Given the description of an element on the screen output the (x, y) to click on. 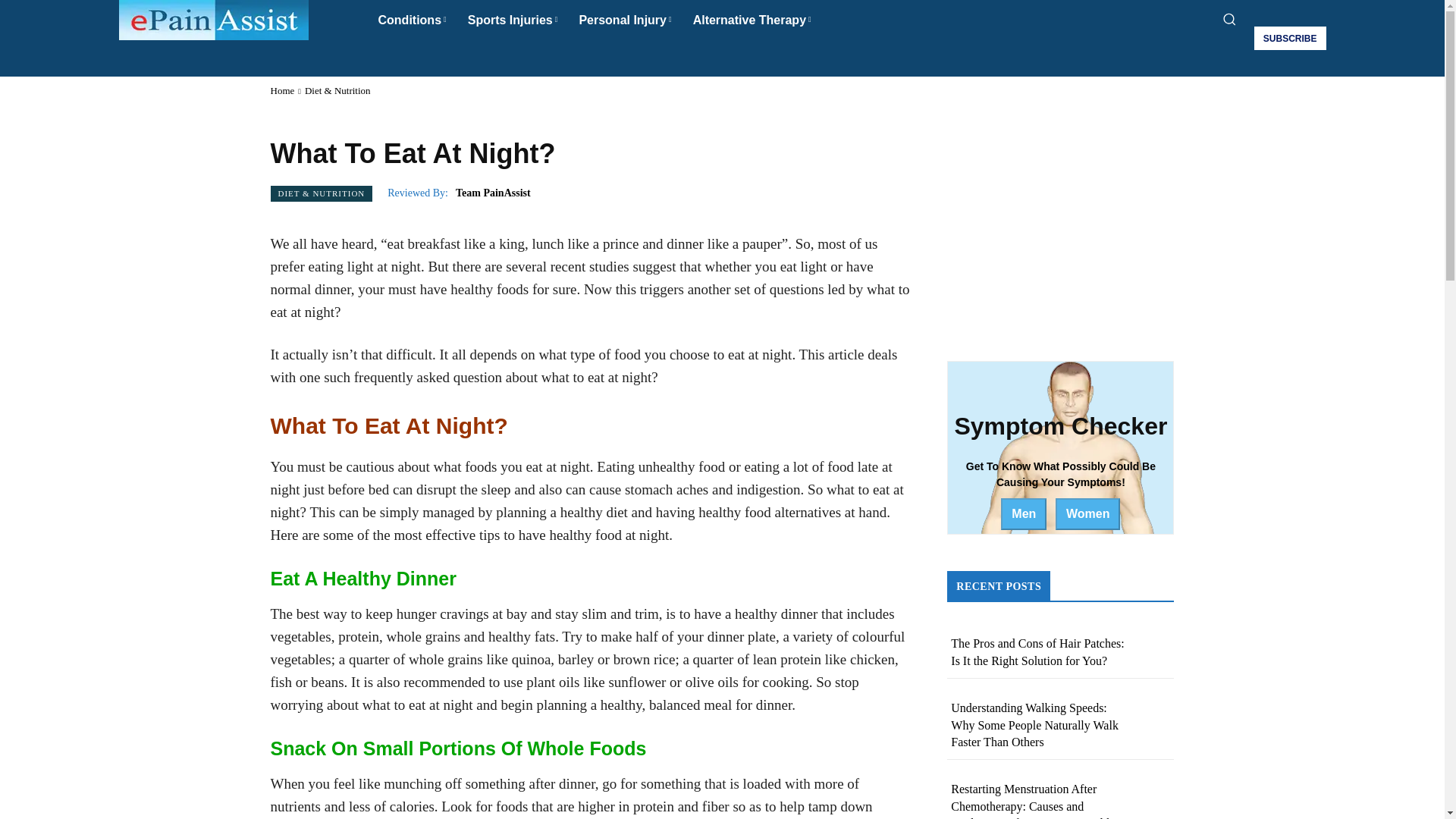
Search (722, 55)
